Given the description of an element on the screen output the (x, y) to click on. 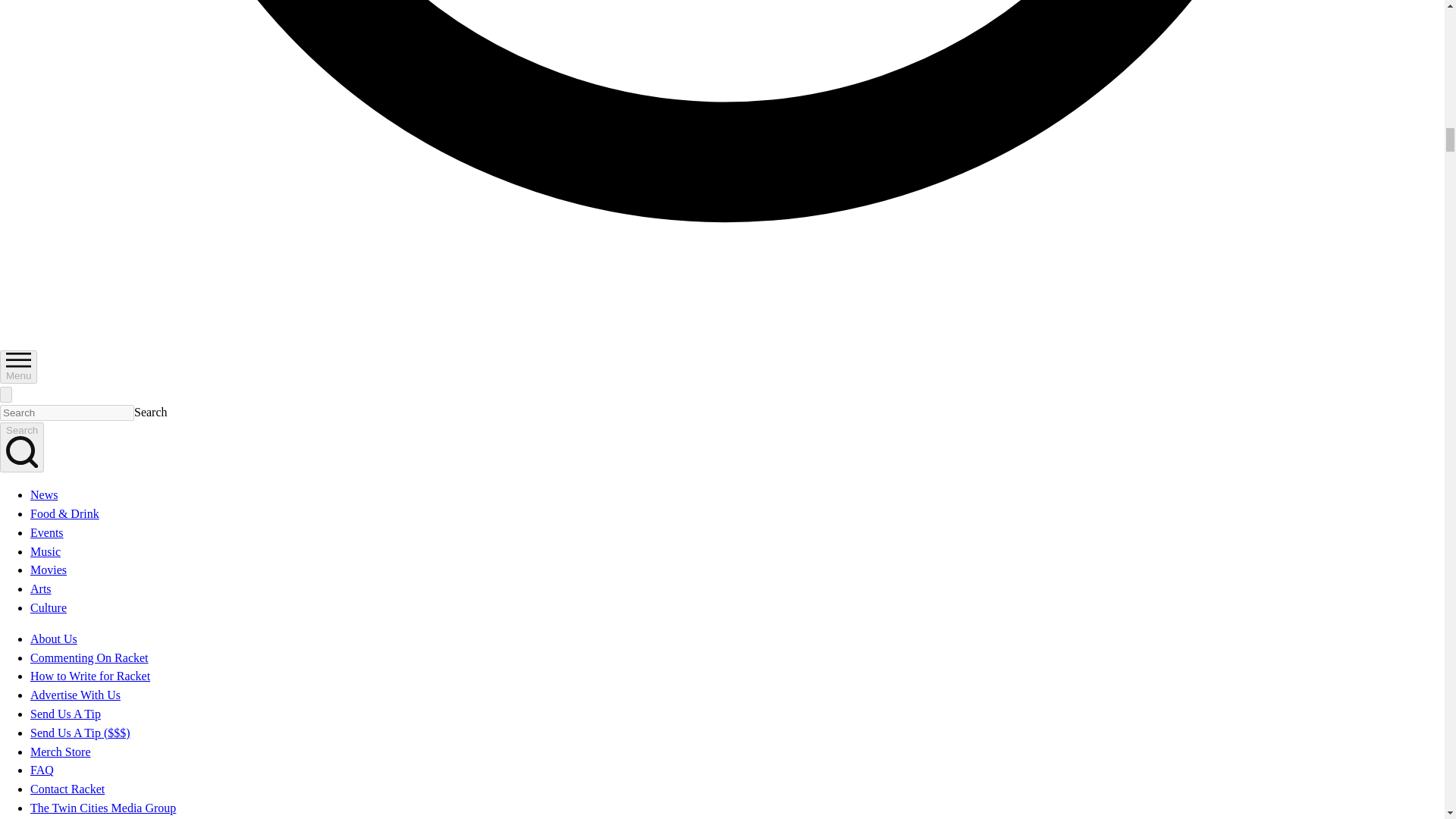
Music (45, 551)
Send Us A Tip (65, 713)
Advertise With Us (75, 694)
FAQ (41, 769)
Contact Racket (67, 788)
The Twin Cities Media Group (103, 807)
How to Write for Racket (89, 675)
Menu (18, 366)
Movies (48, 569)
About Us (53, 638)
